Given the description of an element on the screen output the (x, y) to click on. 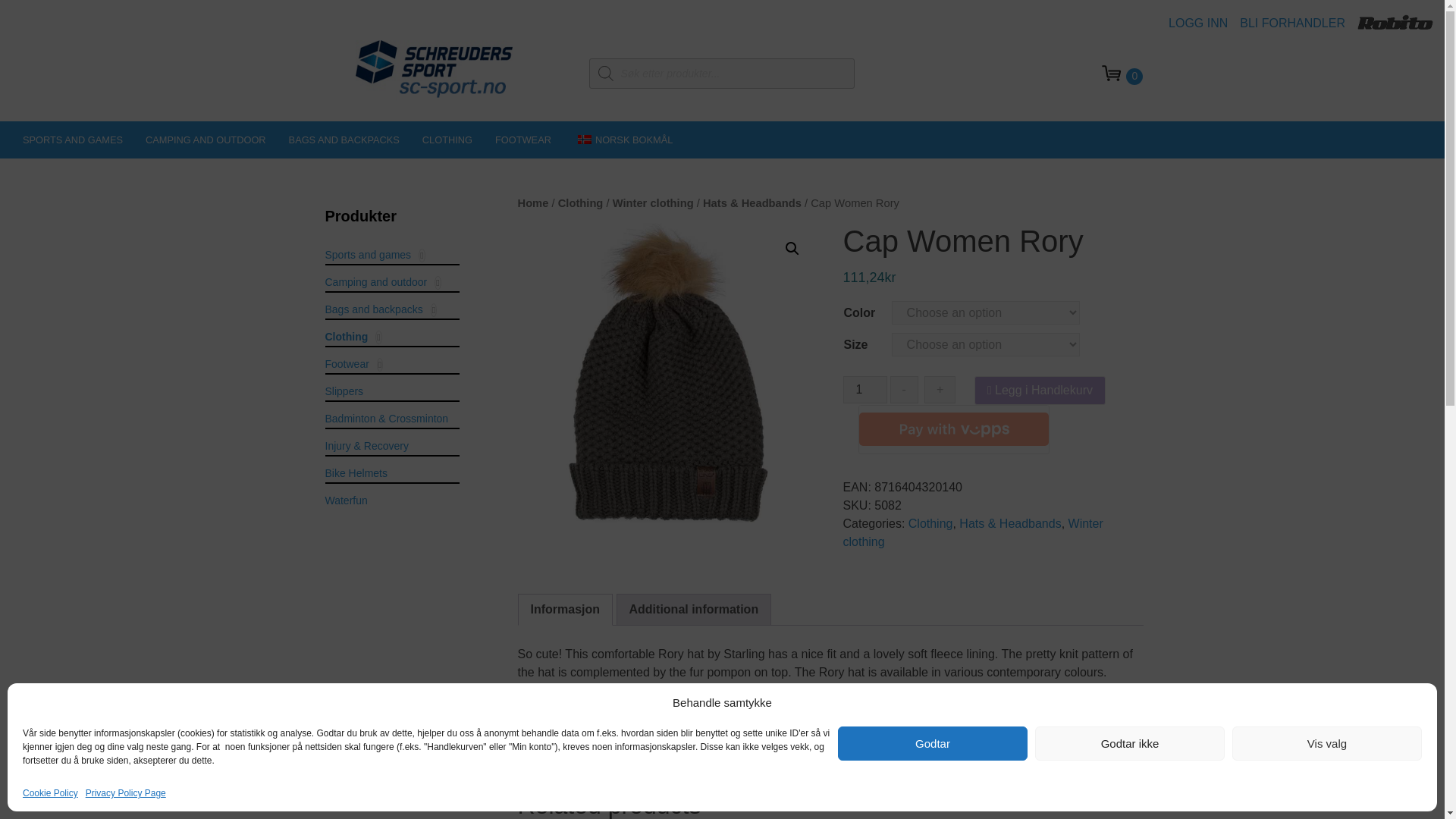
public (666, 372)
FOOTWEAR (522, 139)
1 (864, 389)
Godtar (932, 743)
Sports and games (72, 139)
Footwear (522, 139)
Cookie Policy (50, 793)
Privacy Policy Page (125, 793)
Godtar ikke (1129, 743)
LOGG INN (1204, 22)
Camping and outdoor (205, 139)
BLI FORHANDLER (1298, 22)
CLOTHING (446, 139)
Vis valg (1326, 743)
CAMPING AND OUTDOOR (205, 139)
